Given the description of an element on the screen output the (x, y) to click on. 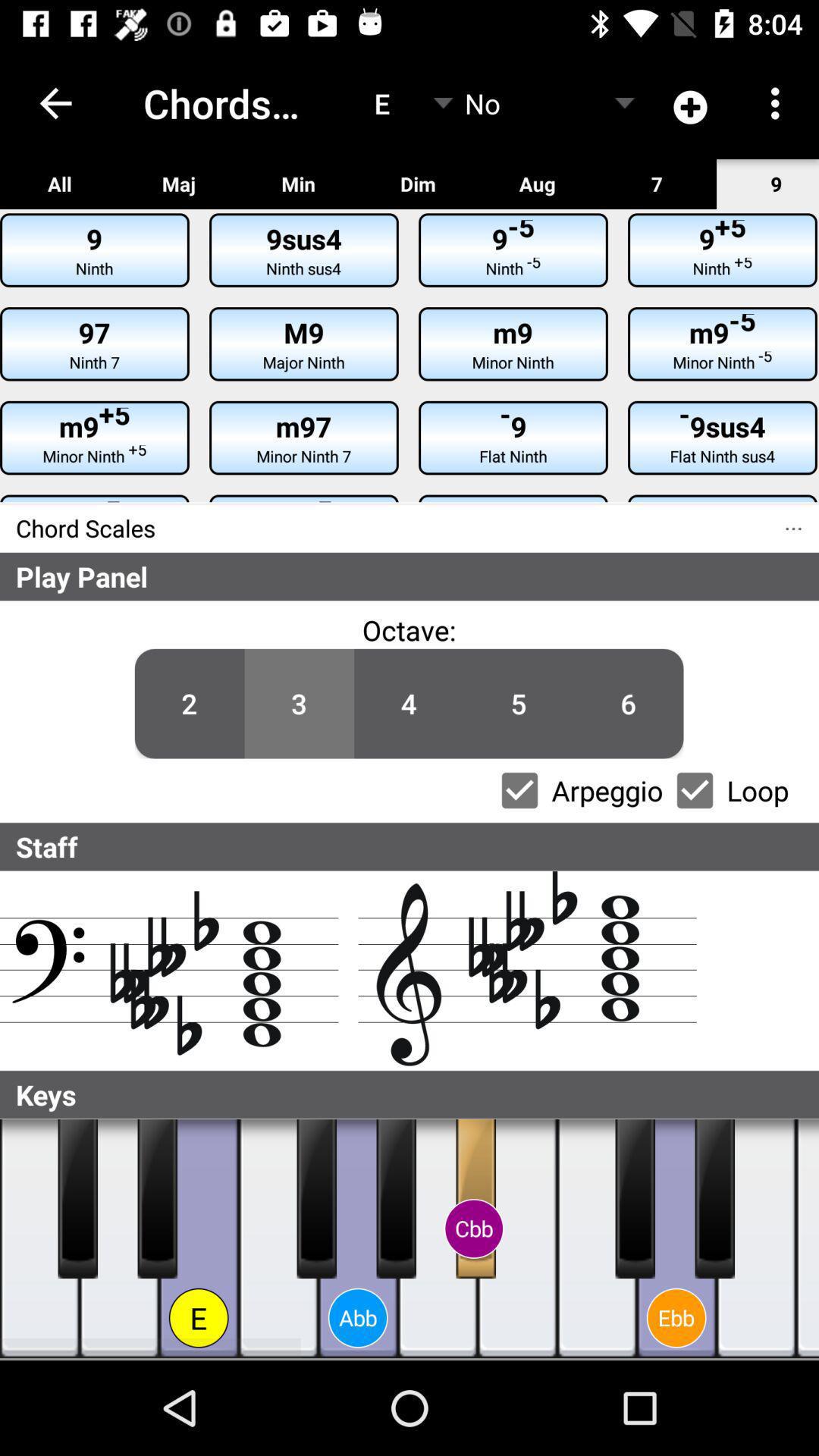
plays the selected key (77, 1198)
